Given the description of an element on the screen output the (x, y) to click on. 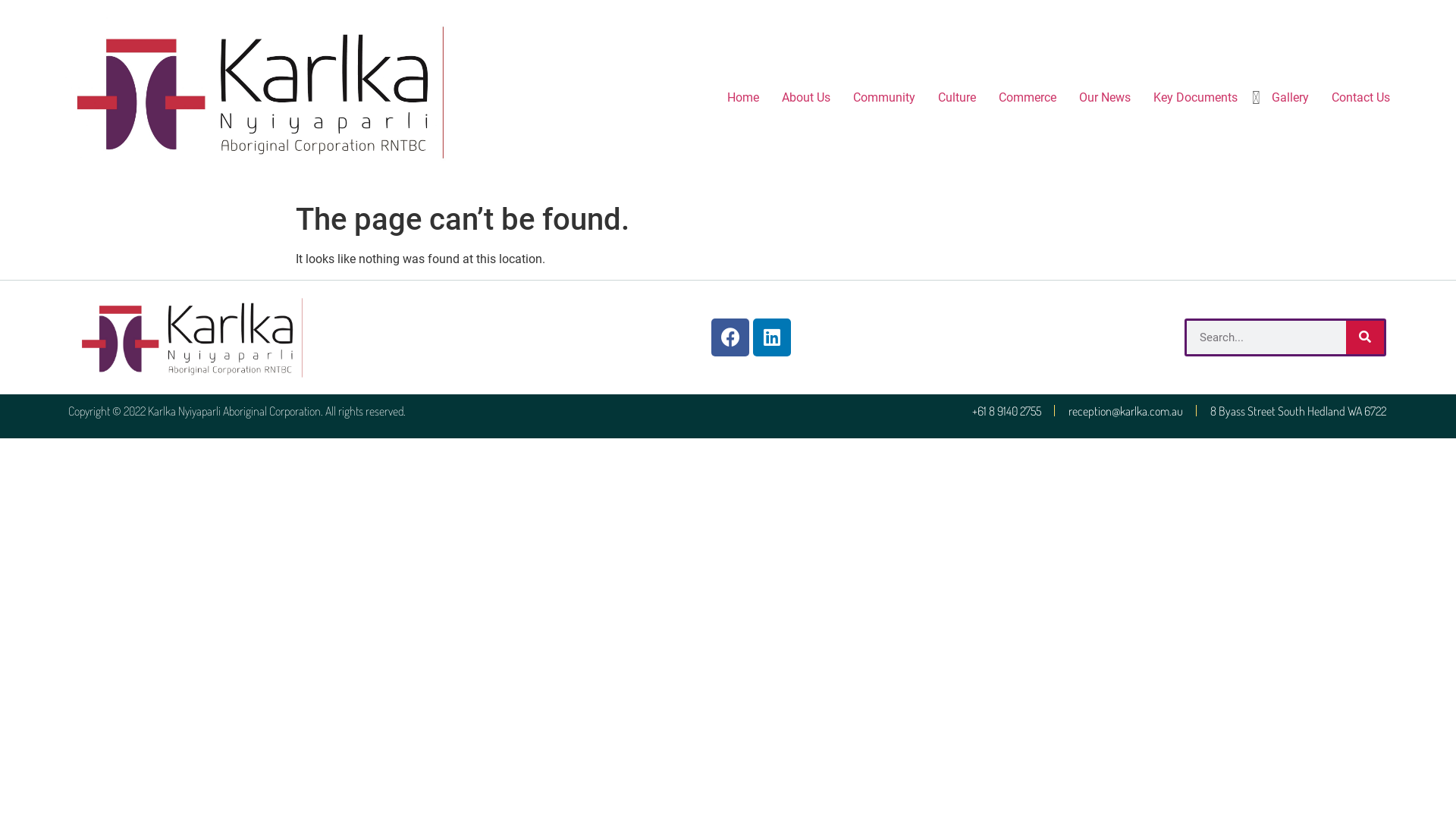
Culture Element type: text (956, 97)
Community Element type: text (883, 97)
Home Element type: text (742, 97)
Gallery Element type: text (1290, 97)
+61 8 9140 2755 Element type: text (1006, 410)
Our News Element type: text (1104, 97)
About Us Element type: text (805, 97)
Contact Us Element type: text (1360, 97)
Key Documents Element type: text (1195, 97)
Commerce Element type: text (1027, 97)
